Given the description of an element on the screen output the (x, y) to click on. 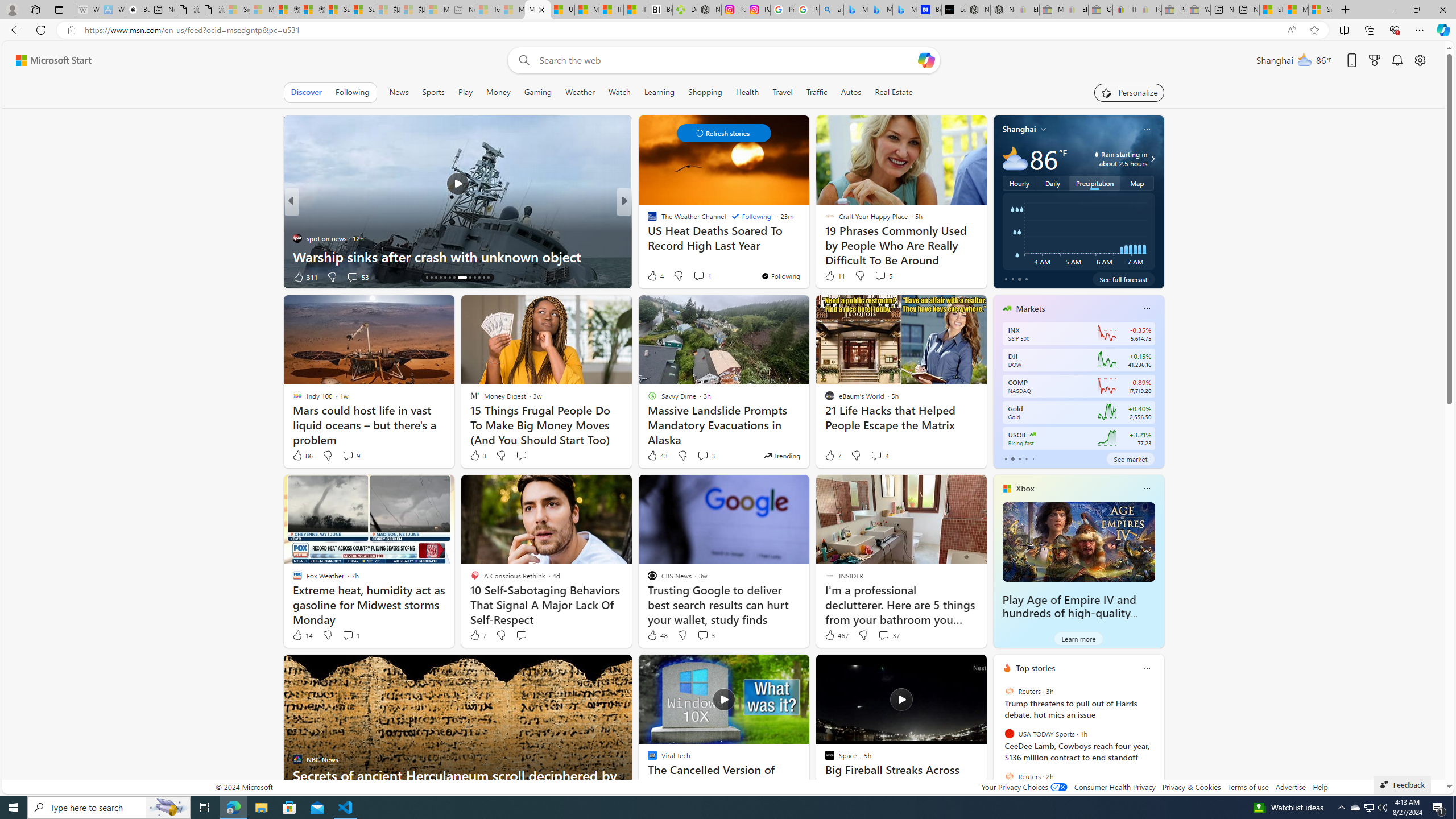
ChaChingQueen (647, 219)
View comments 5 Comment (879, 275)
View comments 35 Comment (707, 276)
View comments 4 Comment (876, 455)
